Given the description of an element on the screen output the (x, y) to click on. 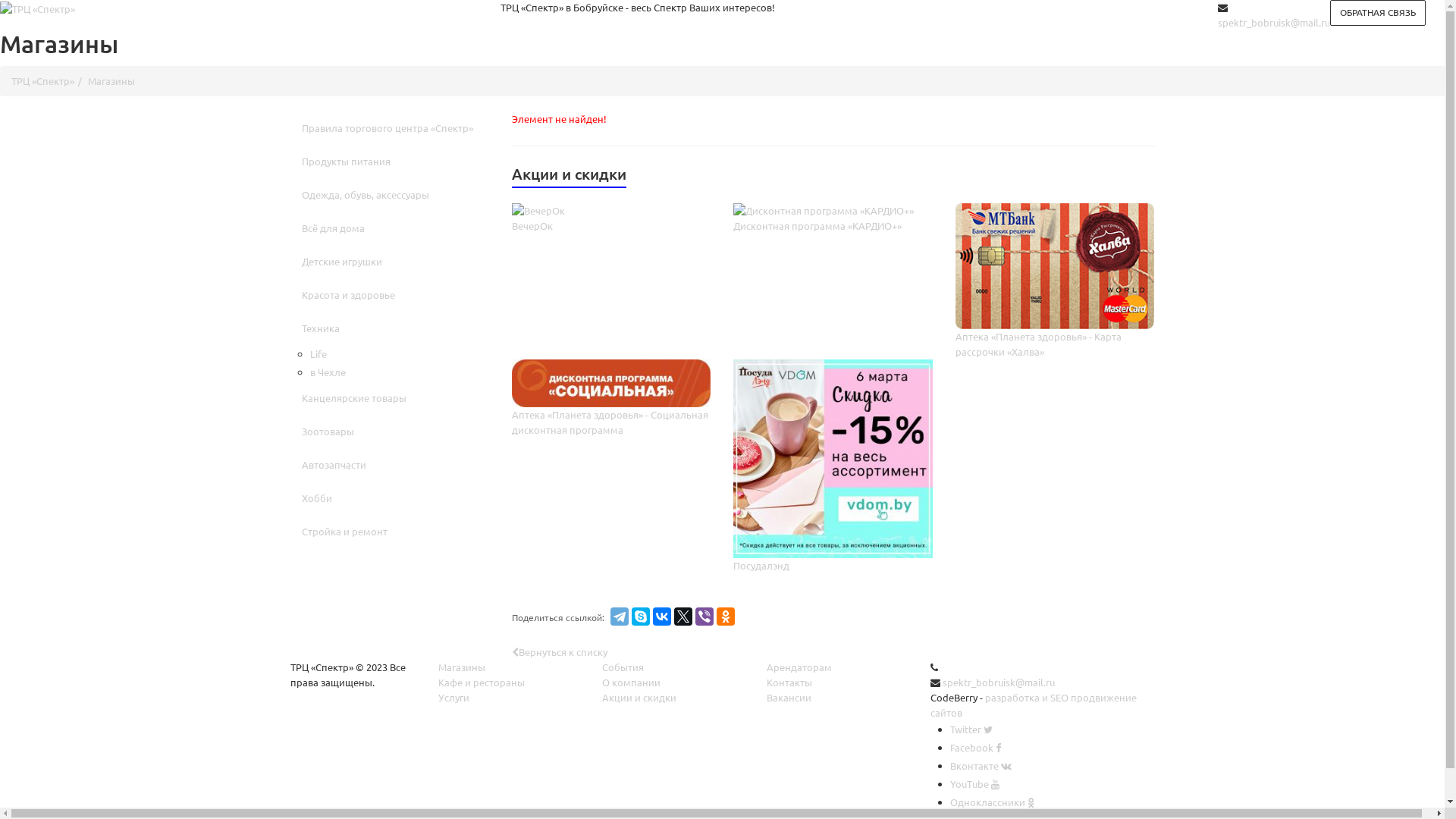
Life Element type: text (317, 353)
Viber Element type: hover (704, 616)
8 (017) 556-50-04 Element type: text (977, 666)
Twitter Element type: text (971, 728)
Facebook Element type: text (975, 746)
spektr_bobruisk@mail.ru Element type: text (1273, 21)
YouTube Element type: text (974, 783)
Telegram Element type: hover (619, 616)
Twitter Element type: hover (683, 616)
spektr_bobruisk@mail.ru Element type: text (998, 681)
Skype Element type: hover (640, 616)
